Given the description of an element on the screen output the (x, y) to click on. 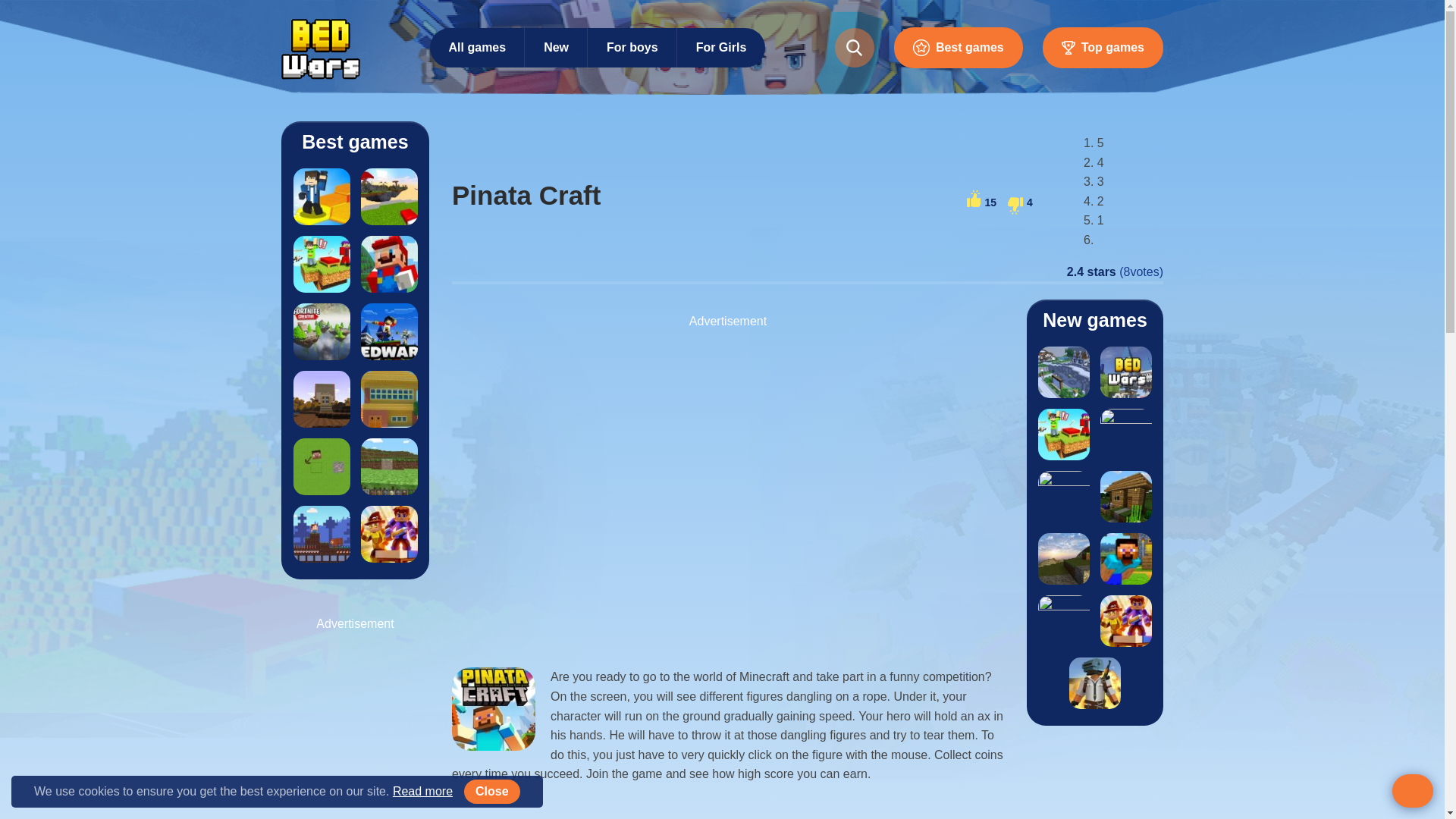
Top games (1102, 47)
15 (980, 201)
For Girls (721, 46)
All games (477, 46)
For boys (632, 46)
Advertisement (364, 732)
New (556, 46)
4 (1020, 201)
Search (736, 65)
Advertisement (727, 495)
